Given the description of an element on the screen output the (x, y) to click on. 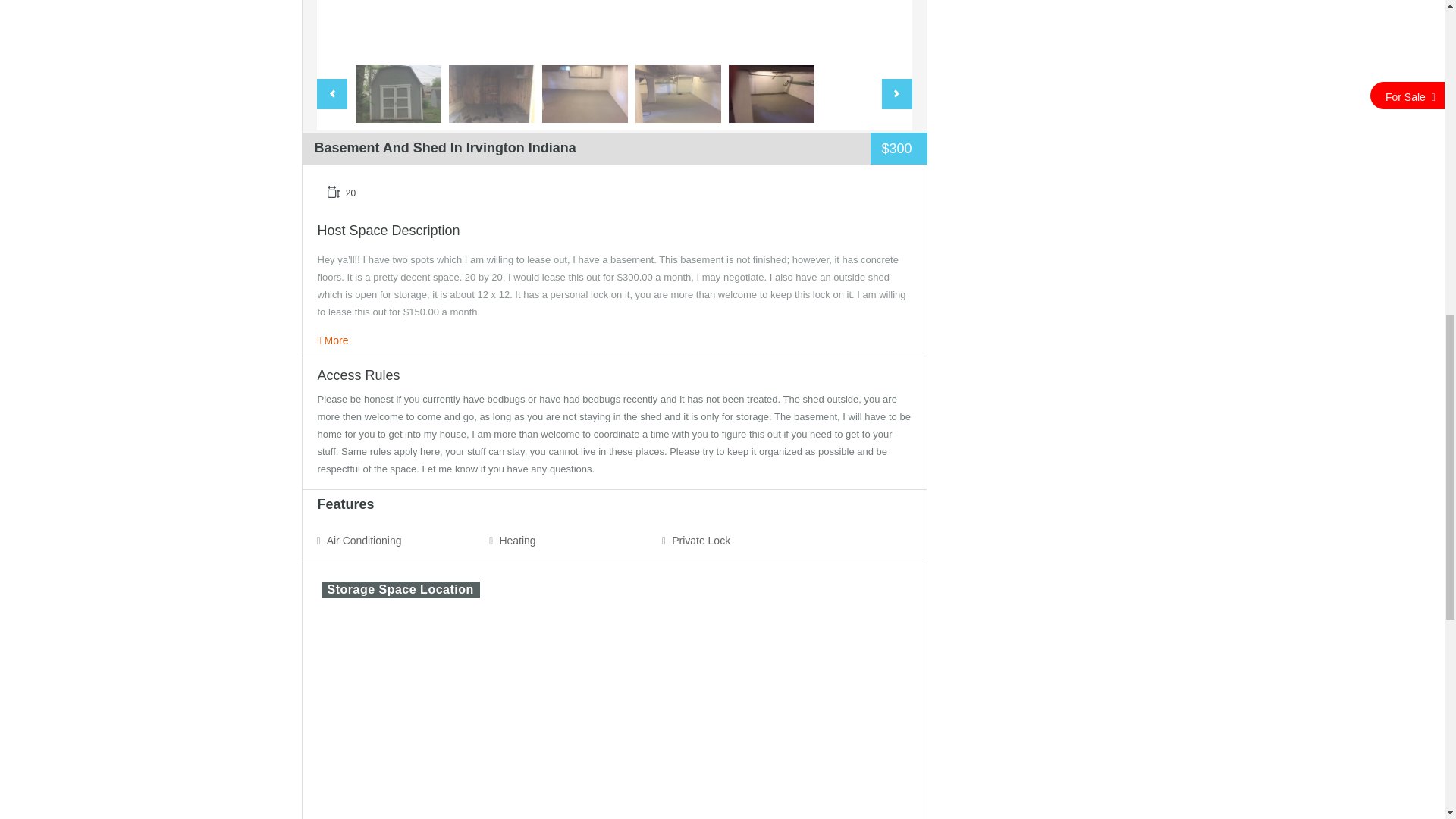
Next (895, 93)
Air Conditioning (364, 540)
Previous (332, 93)
Heating (518, 540)
Private Lock (701, 540)
More (332, 340)
